Given the description of an element on the screen output the (x, y) to click on. 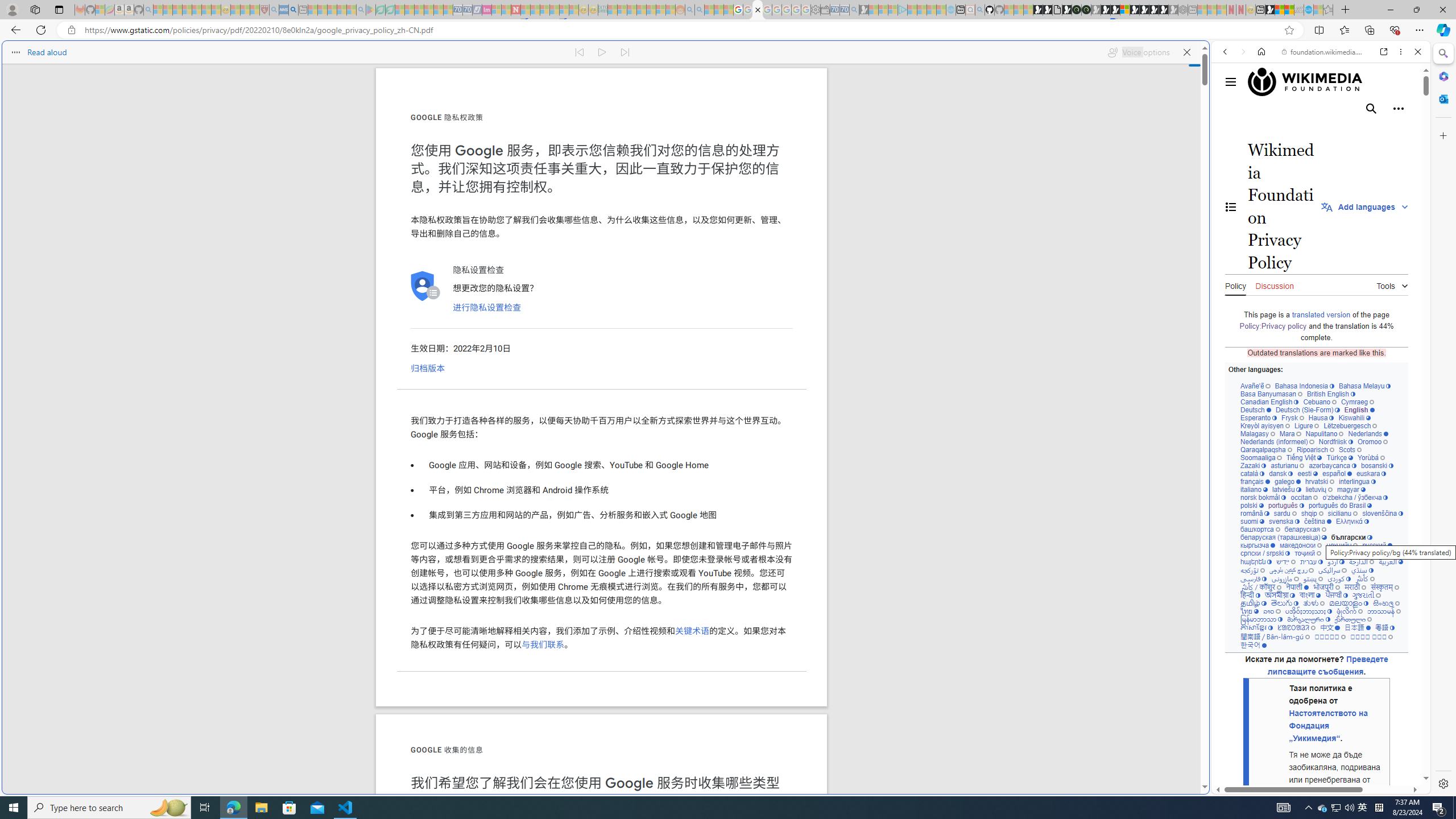
interlingua (1357, 481)
Policy (1235, 284)
Soomaaliga (1260, 456)
polski (1251, 505)
dansk (1280, 473)
